Given the description of an element on the screen output the (x, y) to click on. 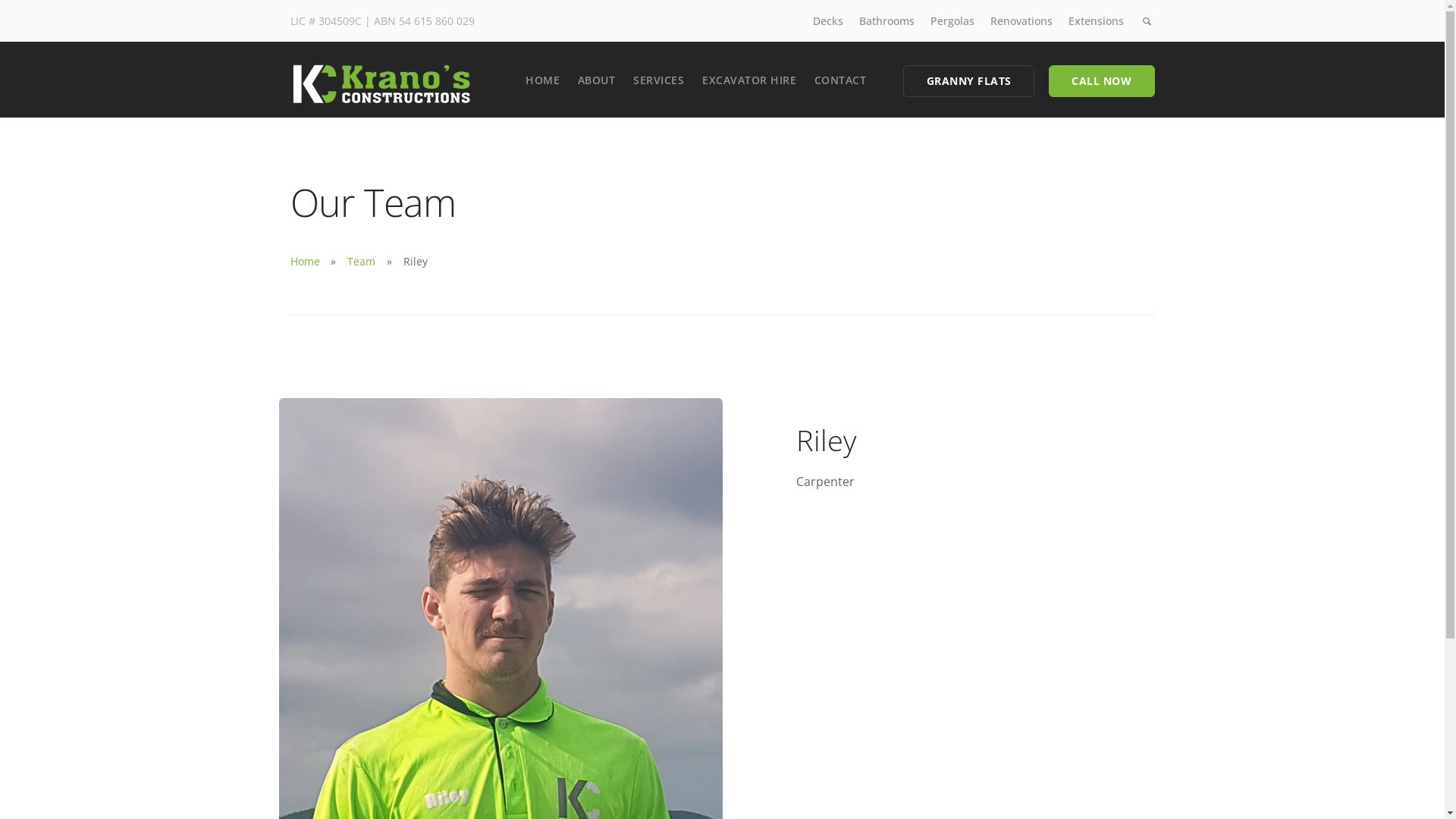
ABOUT Element type: text (596, 79)
Extensions Element type: text (1095, 20)
SERVICES Element type: text (658, 79)
Bathrooms Element type: text (886, 20)
CONTACT Element type: text (840, 79)
Pergolas Element type: text (952, 20)
Renovations Element type: text (1021, 20)
EXCAVATOR HIRE Element type: text (749, 79)
CALL NOW Element type: text (1101, 81)
Team Element type: text (361, 261)
Home Element type: text (304, 261)
GRANNY FLATS Element type: text (968, 81)
HOME Element type: text (542, 79)
Decks Element type: text (827, 20)
